Given the description of an element on the screen output the (x, y) to click on. 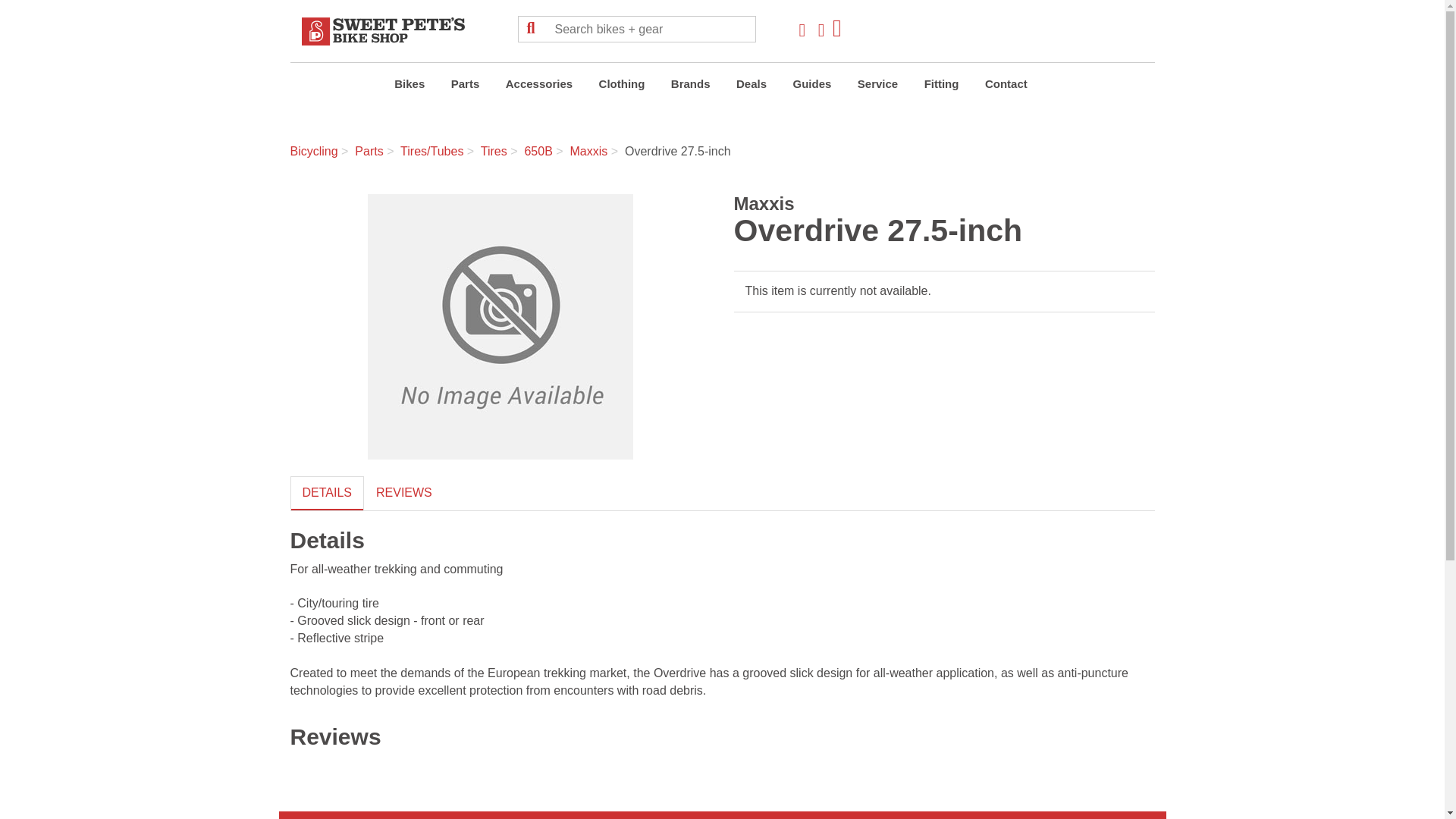
Bikes (408, 87)
